Given the description of an element on the screen output the (x, y) to click on. 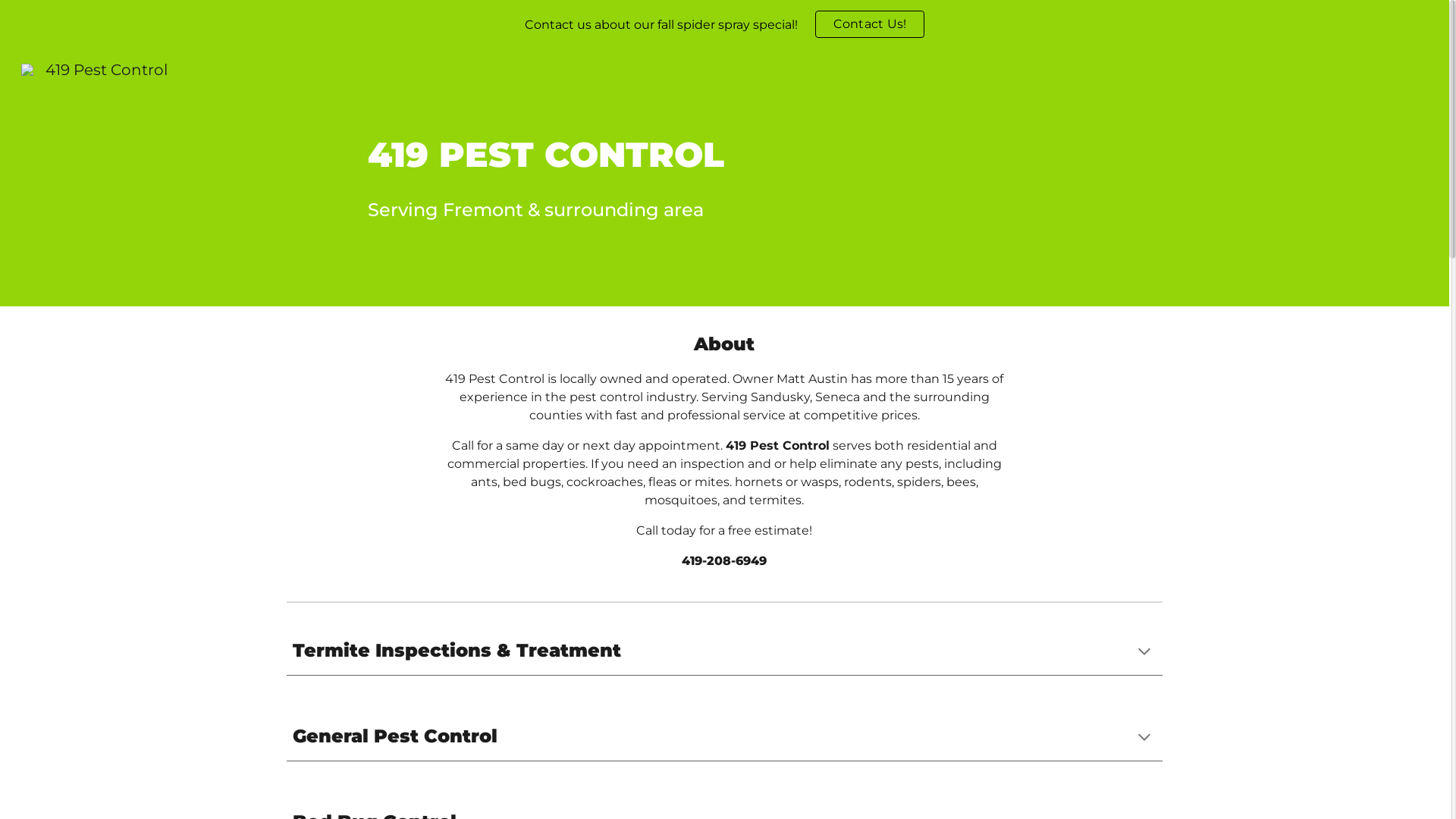
419 Pest Control Element type: text (94, 68)
Contact Us! Element type: text (869, 24)
